Given the description of an element on the screen output the (x, y) to click on. 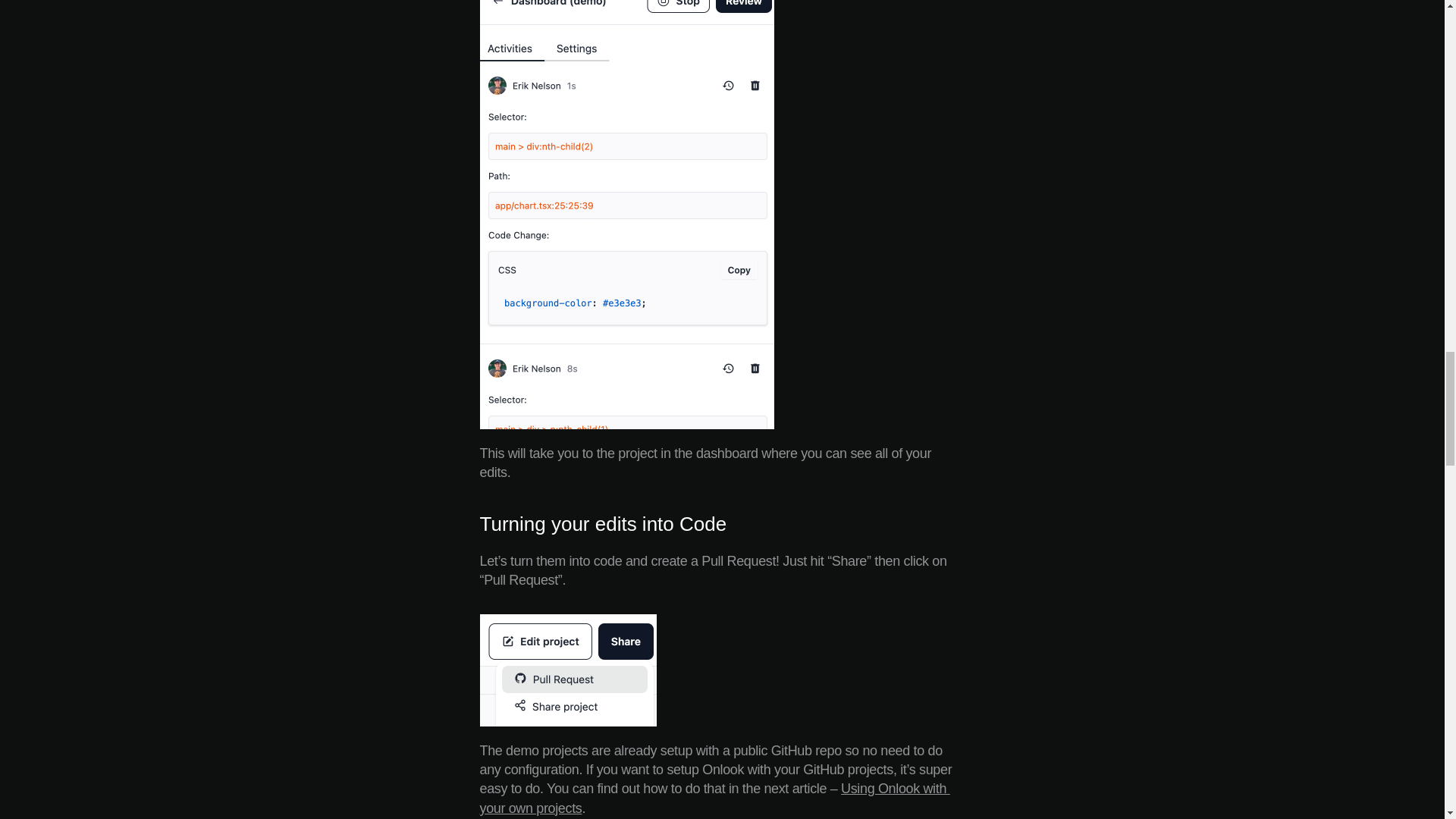
Using Onlook with your own projects (714, 797)
